Given the description of an element on the screen output the (x, y) to click on. 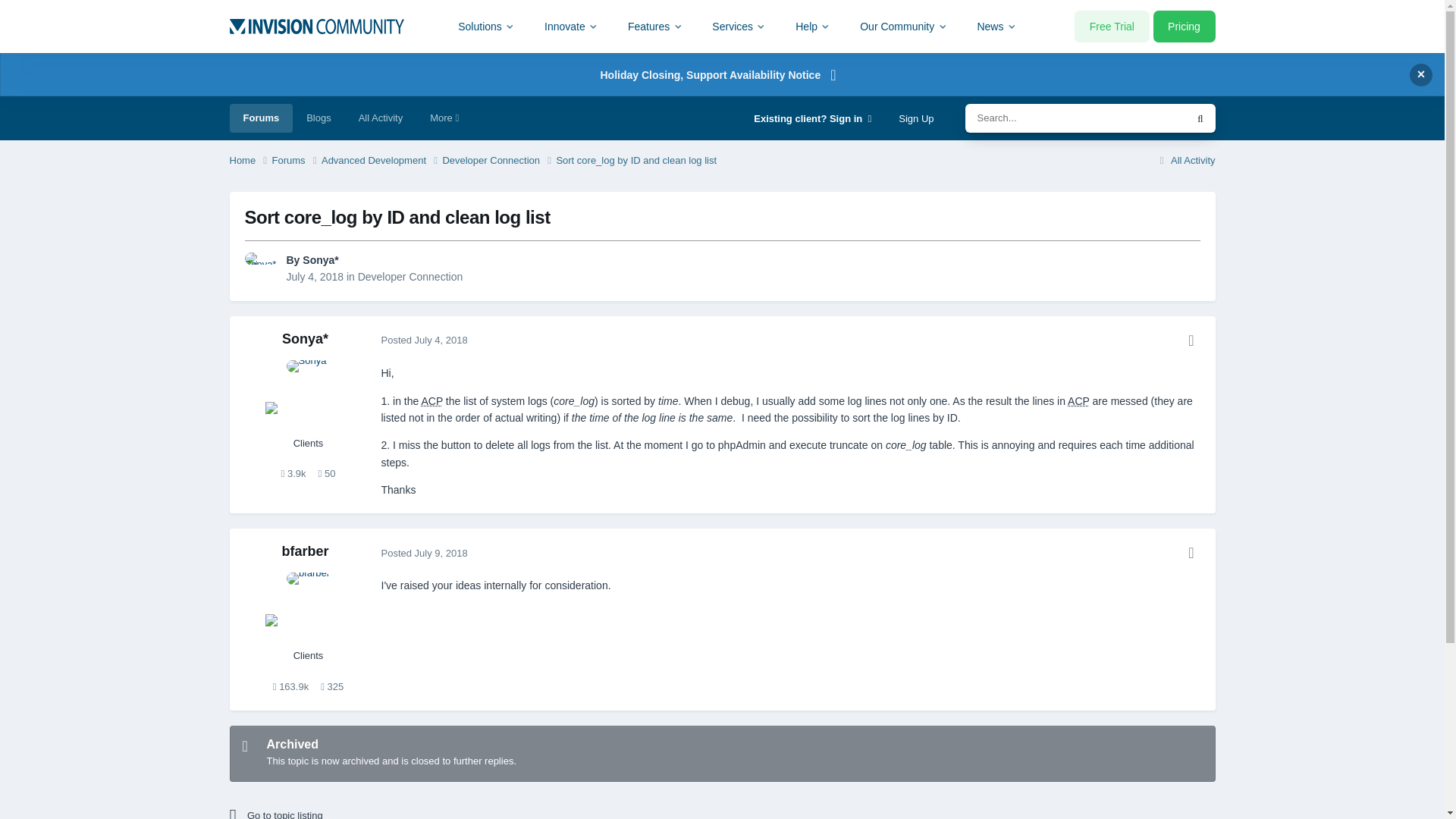
Home (249, 160)
Solutions (486, 26)
Features (654, 26)
Services (738, 26)
Help (812, 26)
Innovate (570, 26)
